Given the description of an element on the screen output the (x, y) to click on. 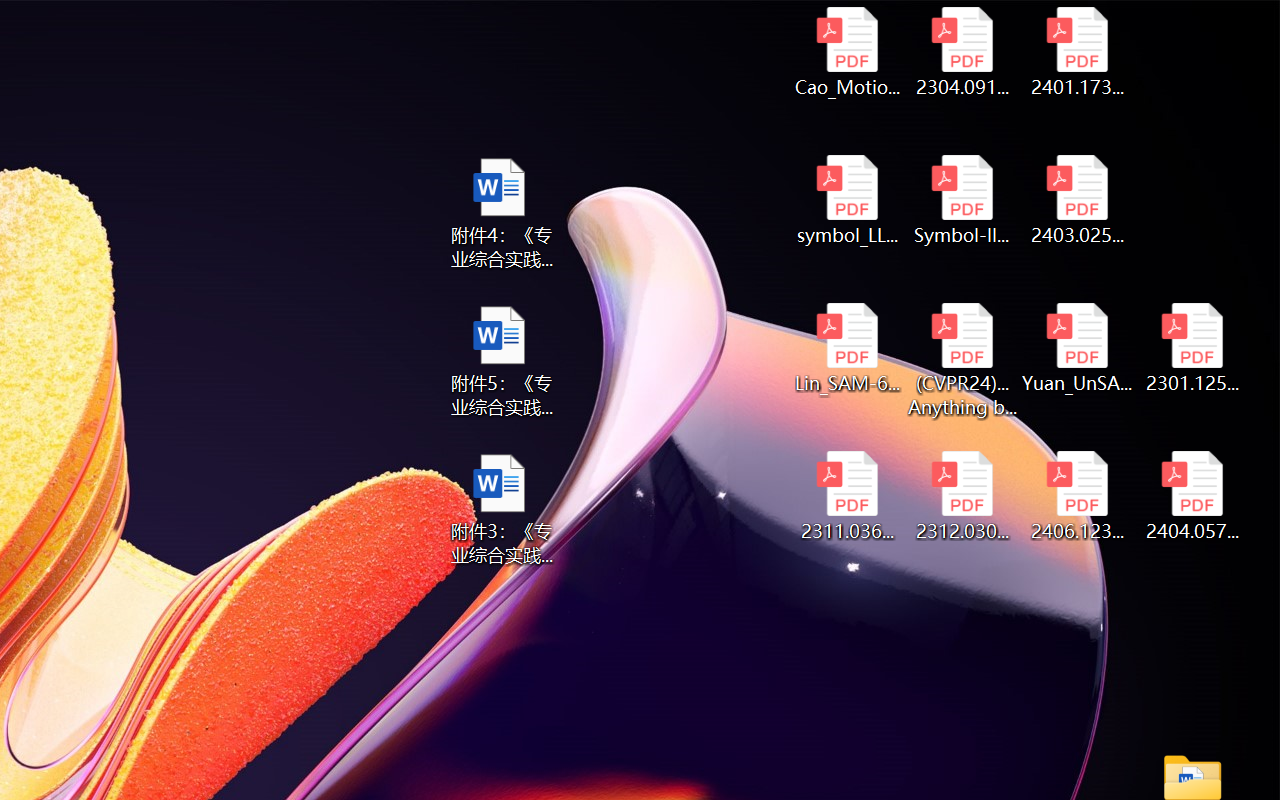
2312.03032v2.pdf (962, 496)
